Given the description of an element on the screen output the (x, y) to click on. 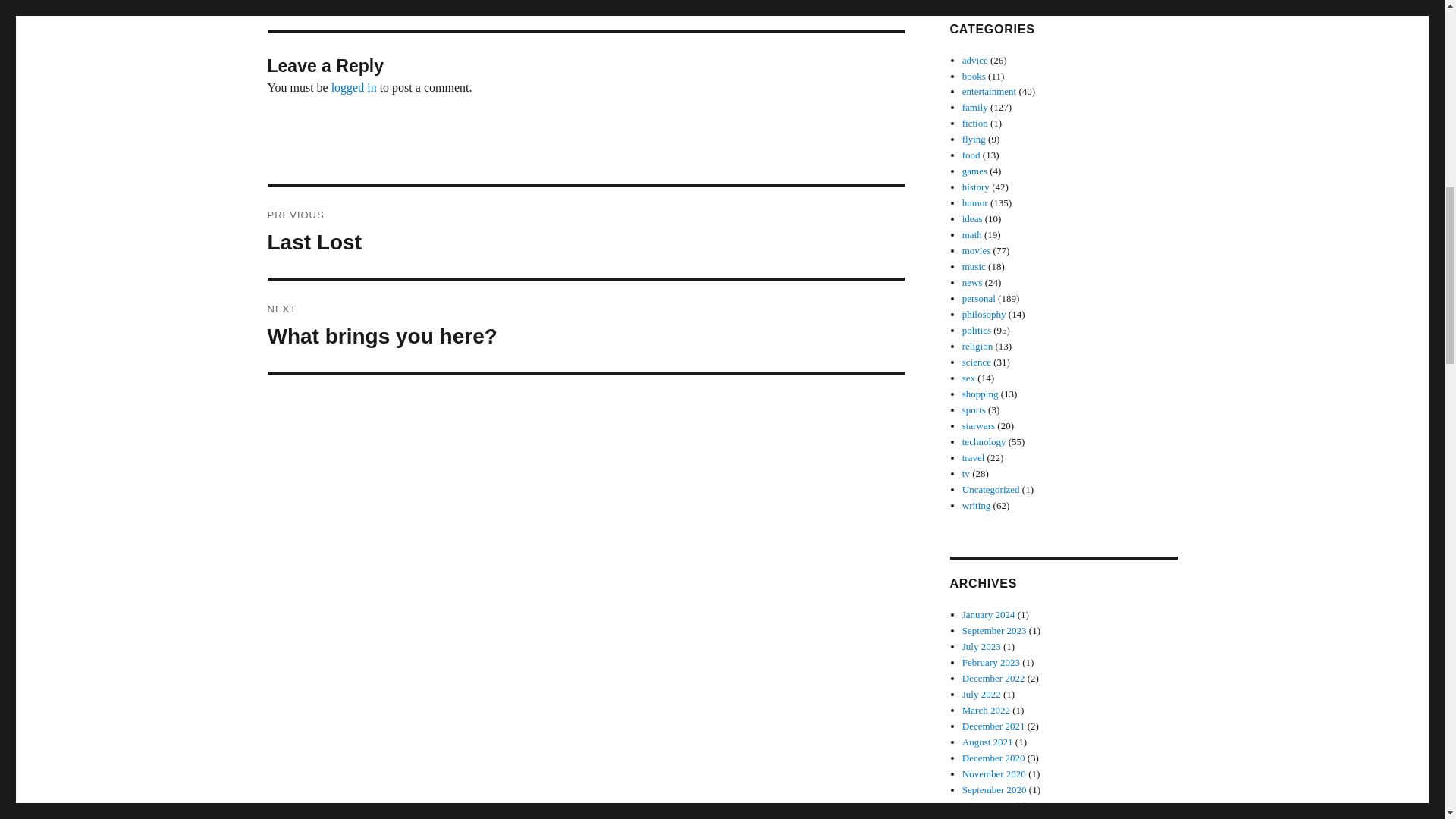
advice (975, 60)
logged in (354, 87)
history (976, 186)
humor (975, 202)
games (974, 170)
food (970, 154)
books (973, 75)
family (975, 107)
fiction (975, 122)
ideas (972, 218)
math (971, 234)
entertainment (585, 325)
flying (989, 91)
